Given the description of an element on the screen output the (x, y) to click on. 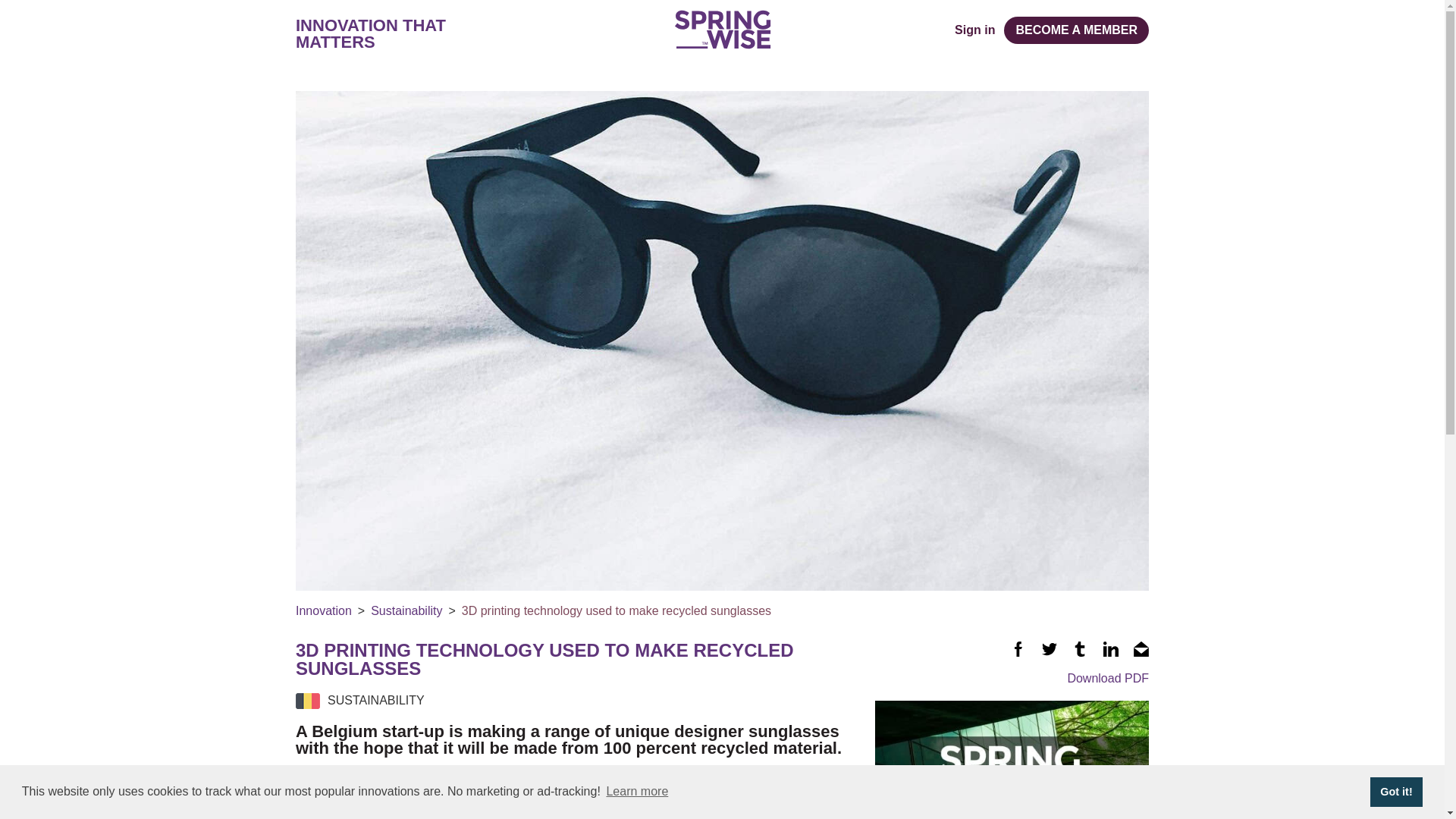
Download PDF (1011, 678)
Got it! (1396, 791)
Twitter (1049, 648)
Email (1141, 648)
Learn more (636, 791)
Springwise (721, 29)
Home (721, 29)
Tumblr (1079, 648)
Sustainability (406, 611)
BECOME A MEMBER (1076, 30)
Linked In (1110, 648)
Innovation (323, 611)
Sign in (974, 30)
Facebook (1018, 648)
